Given the description of an element on the screen output the (x, y) to click on. 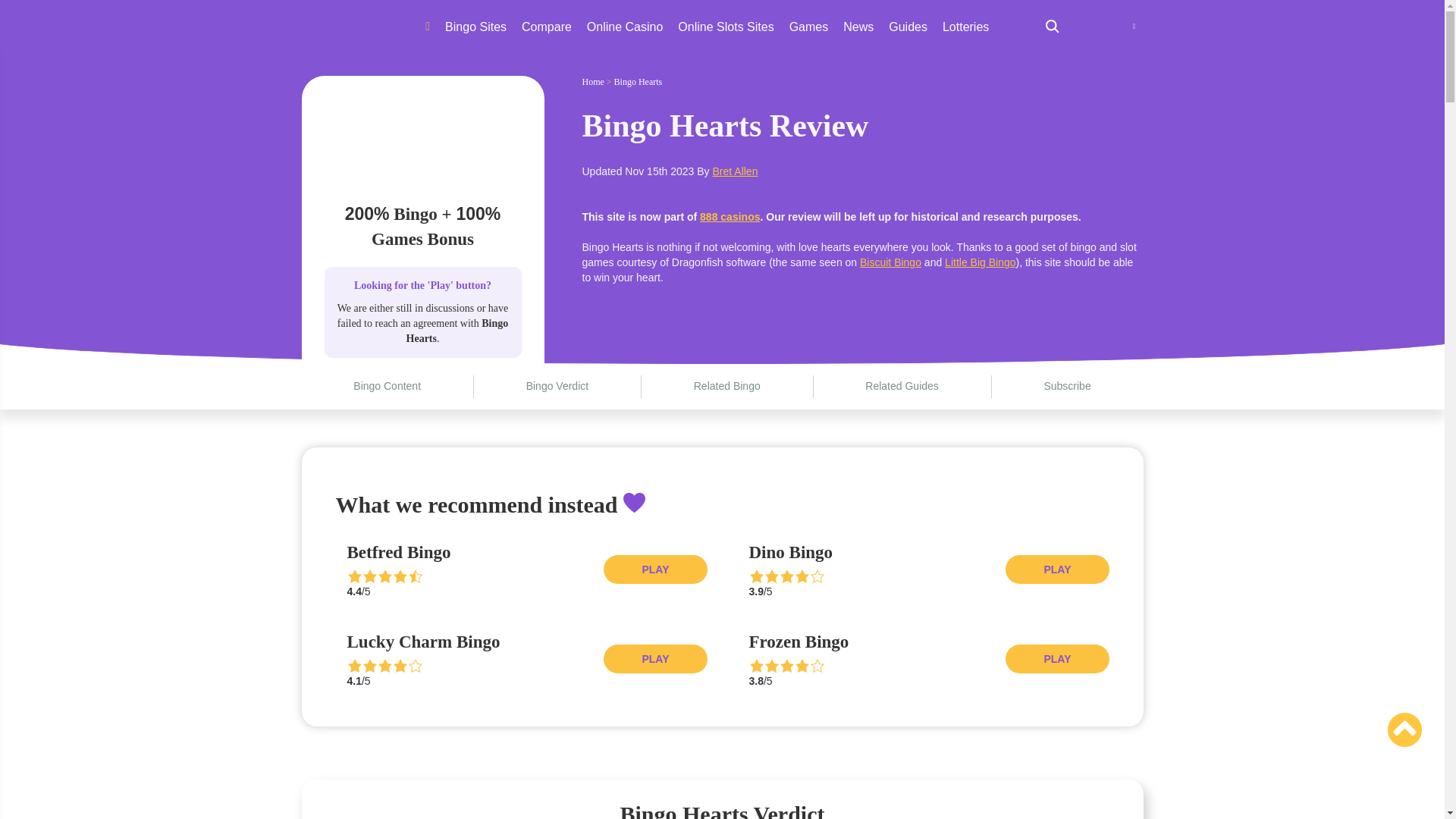
Online Slots Sites (725, 26)
Games (808, 26)
Online Casino (624, 26)
News (858, 26)
Bingo Sites (475, 26)
Guides (907, 26)
Compare (546, 26)
